Given the description of an element on the screen output the (x, y) to click on. 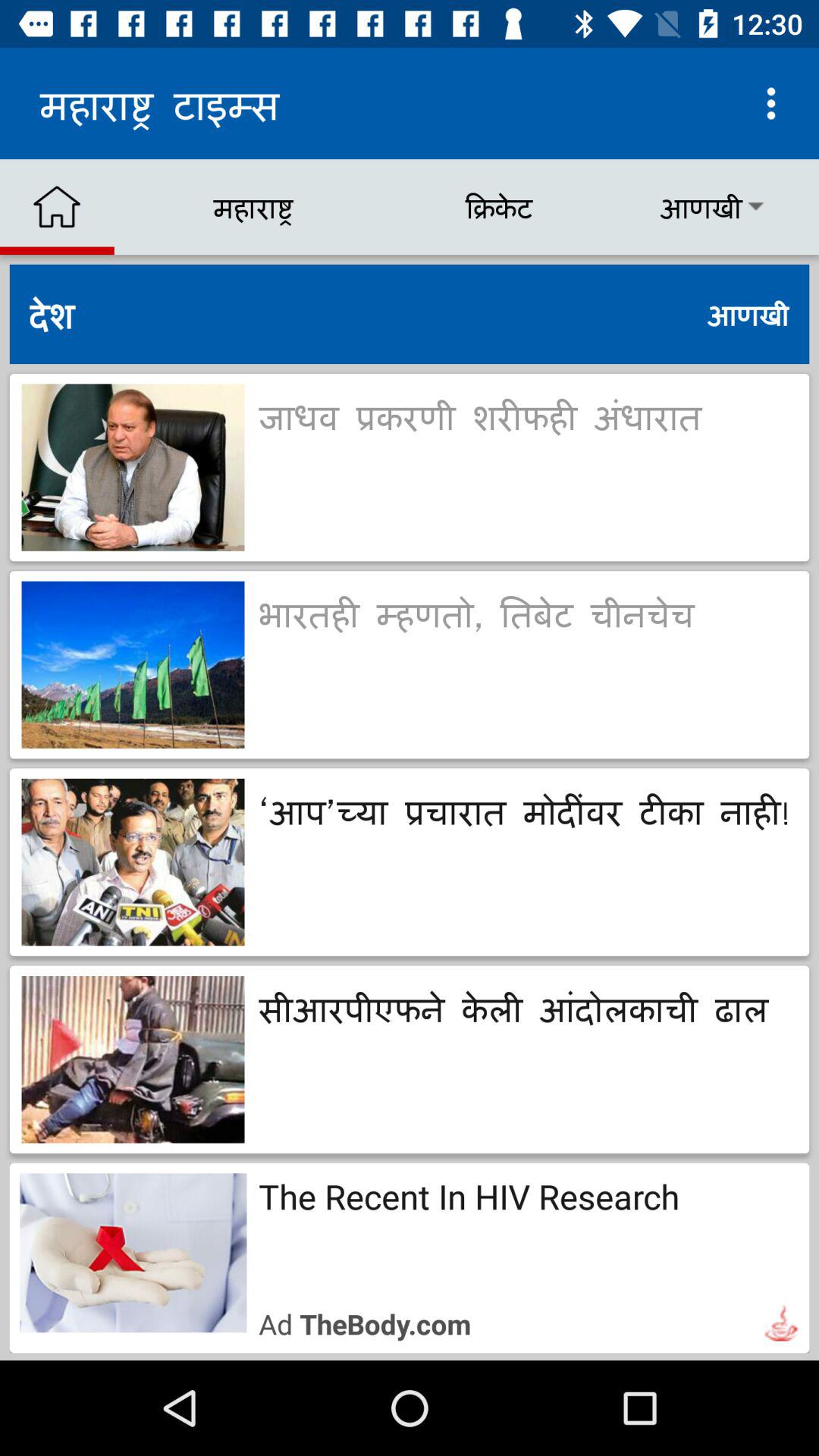
click on the last post at bottom of the page (409, 1257)
select the 4th image on the web page (133, 1058)
click on the home icon at top of the page (57, 207)
click on the second image of the page (133, 664)
click on the second image from the top (133, 664)
click on the button which is on top right (771, 103)
select the image icon at right side bottom of the page (781, 1322)
